Given the description of an element on the screen output the (x, y) to click on. 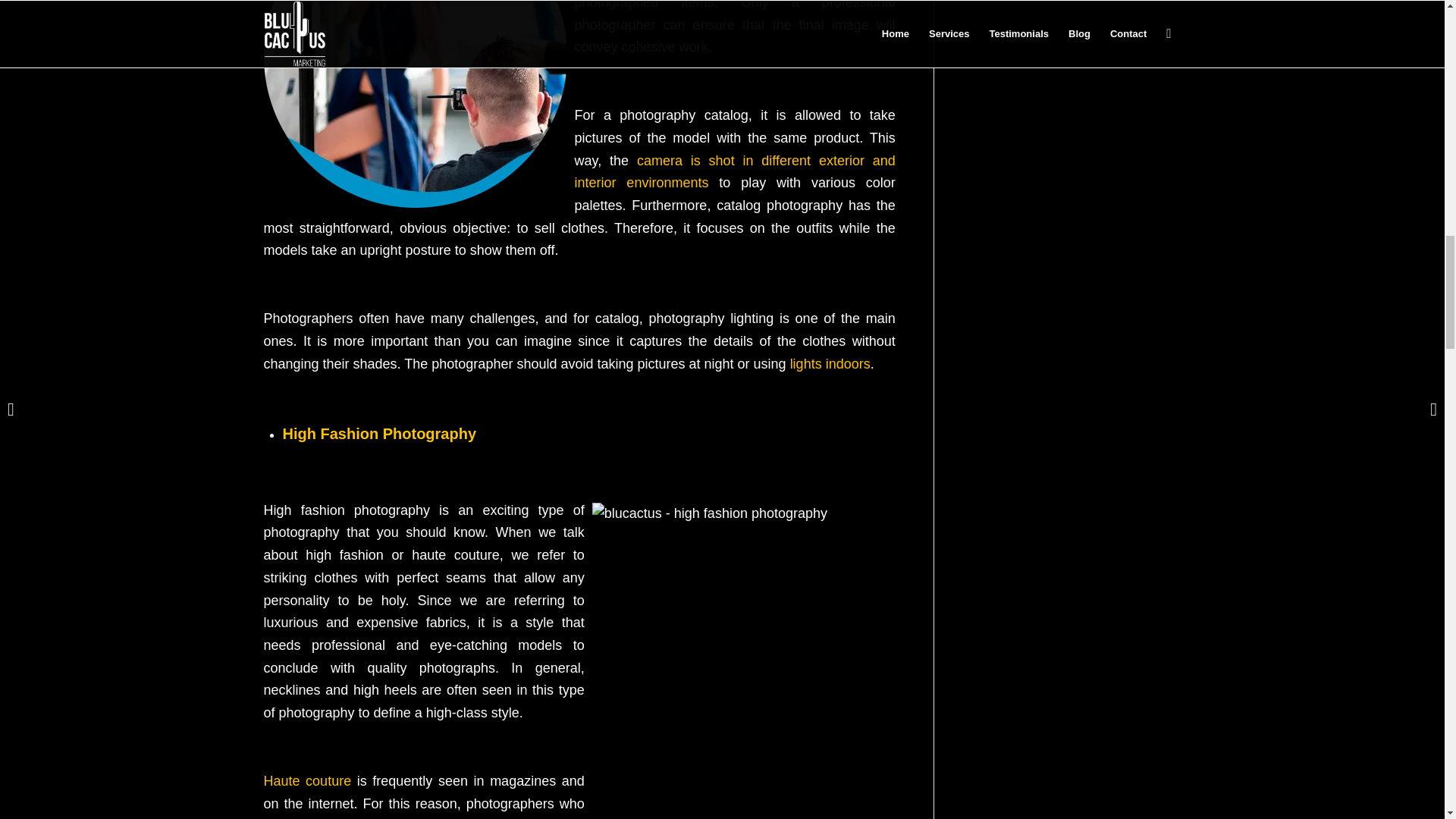
lights indoors (830, 363)
Haute couture (307, 780)
How to start an haute couture line? (307, 780)
